Given the description of an element on the screen output the (x, y) to click on. 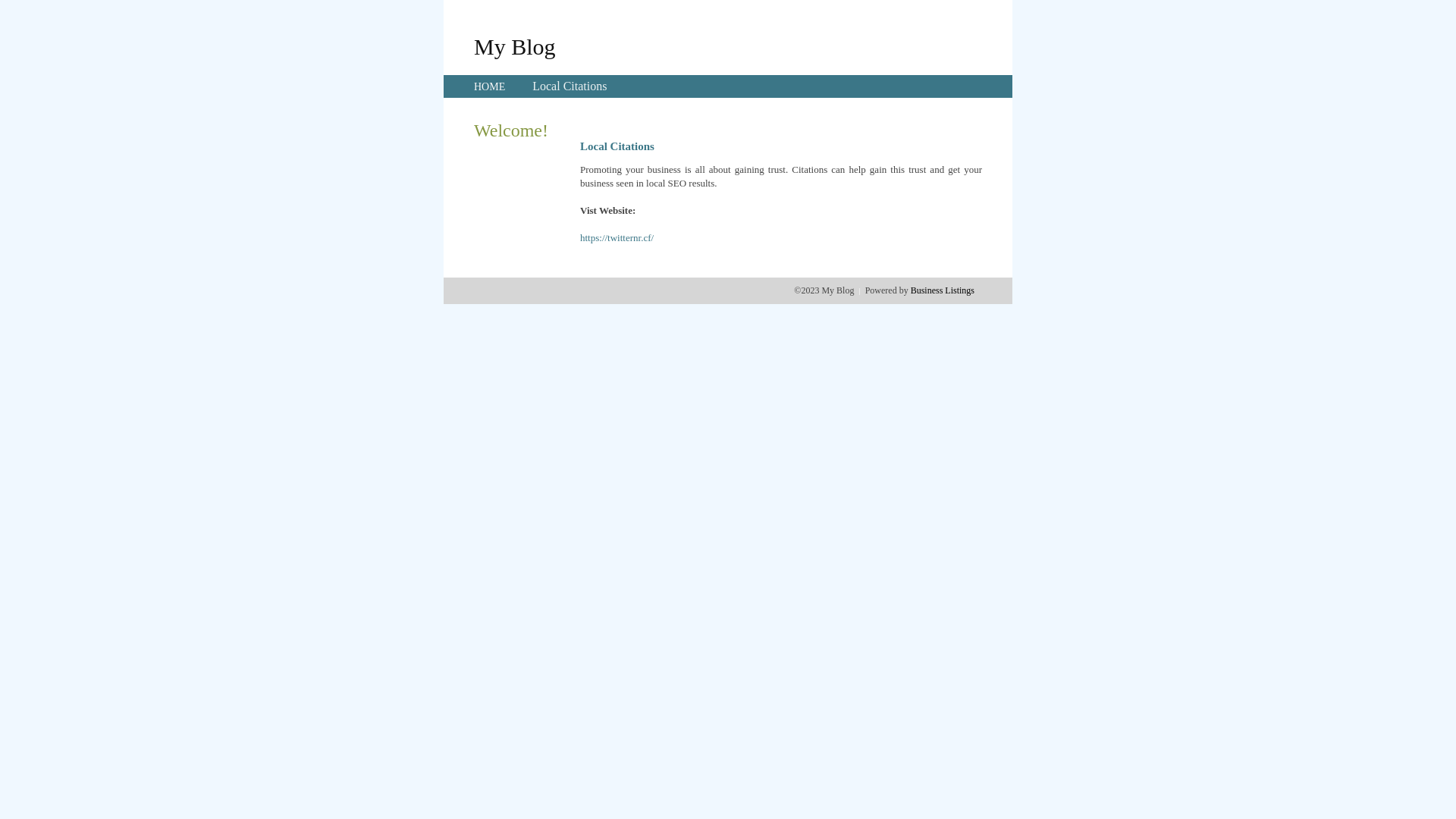
https://twitternr.cf/ Element type: text (616, 237)
My Blog Element type: text (514, 46)
Business Listings Element type: text (942, 290)
HOME Element type: text (489, 86)
Local Citations Element type: text (569, 85)
